Given the description of an element on the screen output the (x, y) to click on. 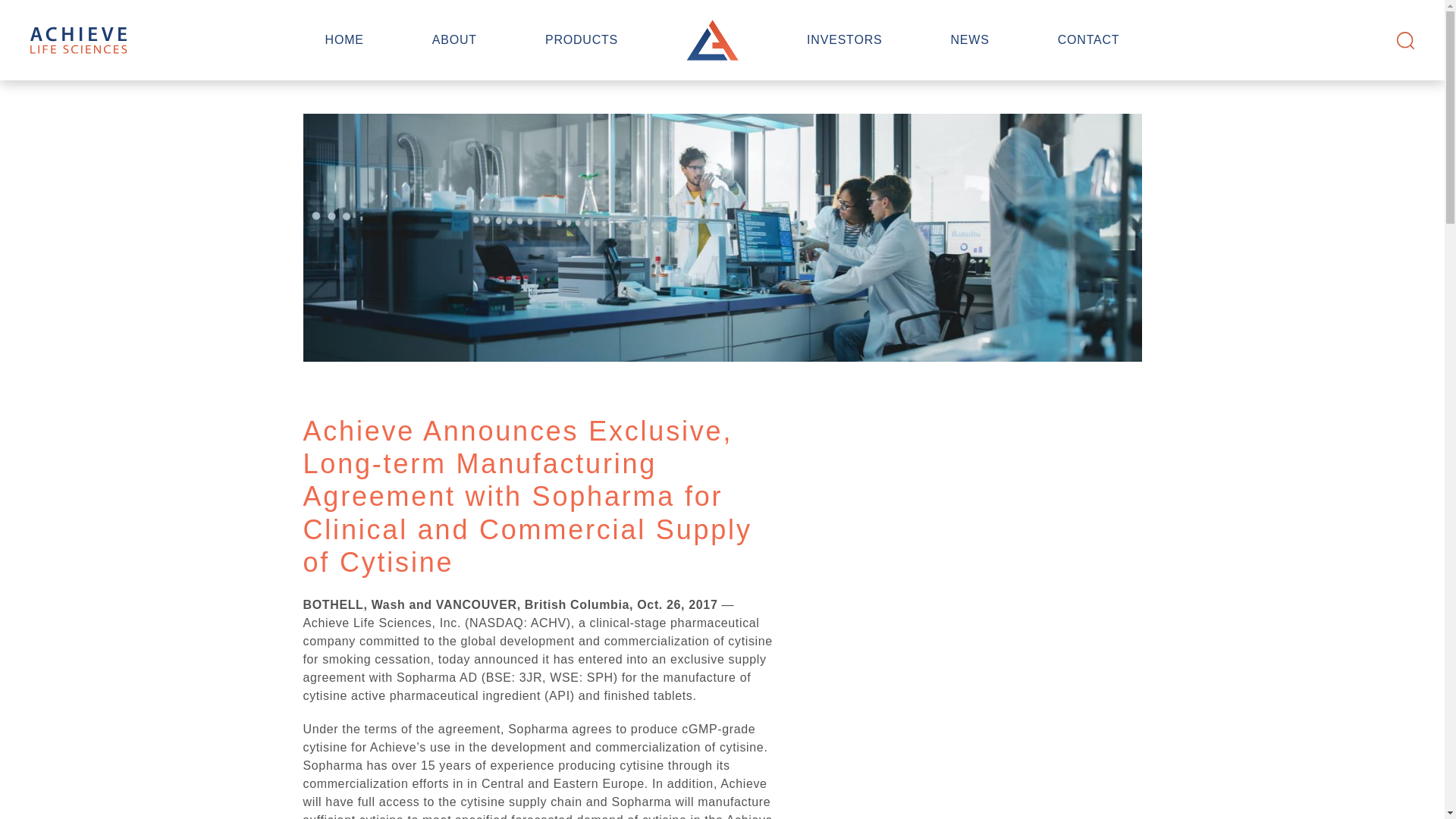
PRODUCTS (580, 39)
NEWS (969, 39)
INVESTORS (844, 39)
Advanced Life Sciences (79, 40)
CONTACT (1088, 39)
Search (1404, 40)
ABOUT (454, 39)
HOME (344, 39)
Search (1404, 40)
